Given the description of an element on the screen output the (x, y) to click on. 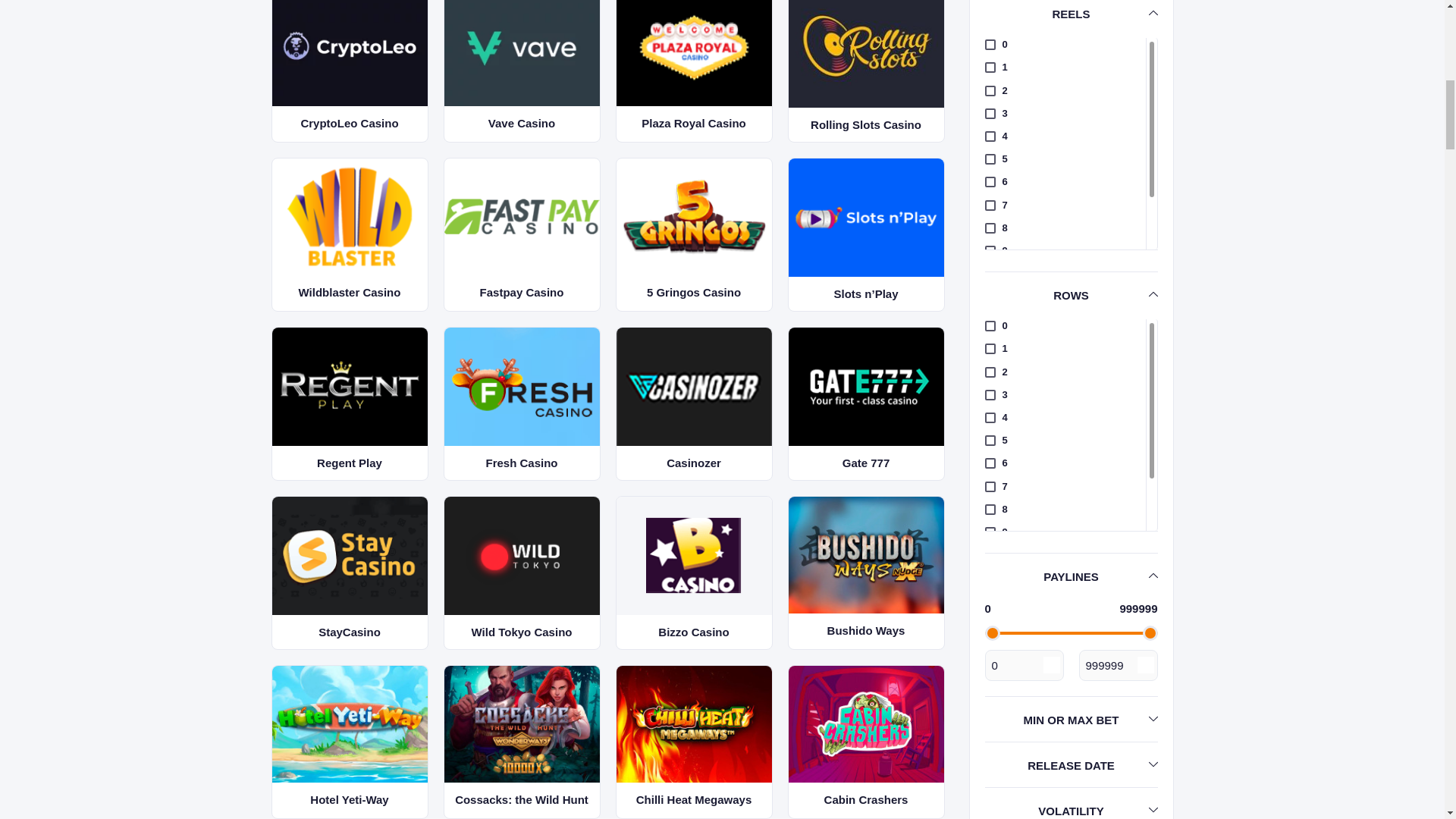
Vave Casino (521, 53)
cryptoleo-casino-logo (348, 53)
Vave Casino (520, 71)
CryptoLeo Casino (349, 71)
